Given the description of an element on the screen output the (x, y) to click on. 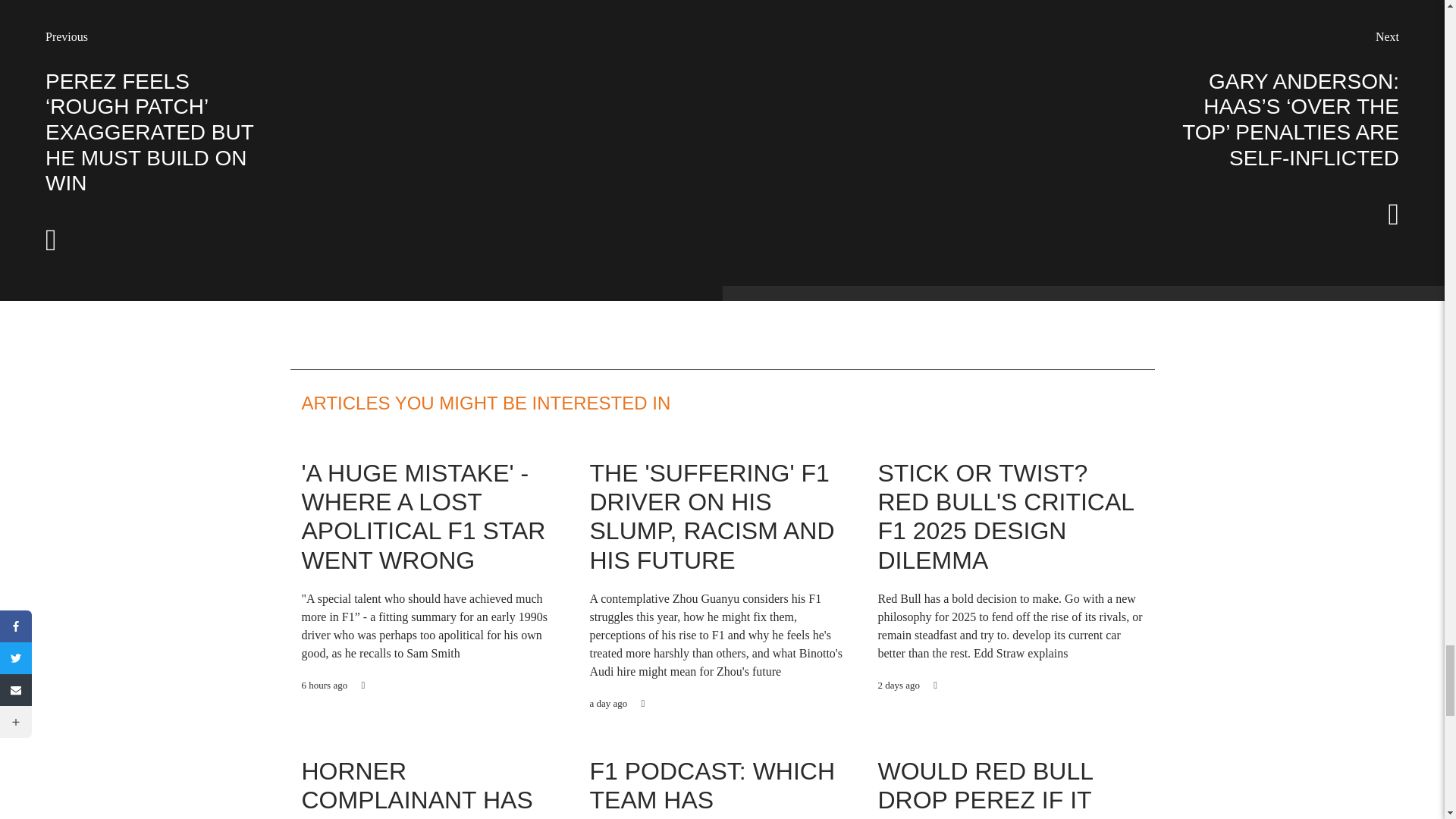
Previous (66, 36)
Next (1387, 36)
